Given the description of an element on the screen output the (x, y) to click on. 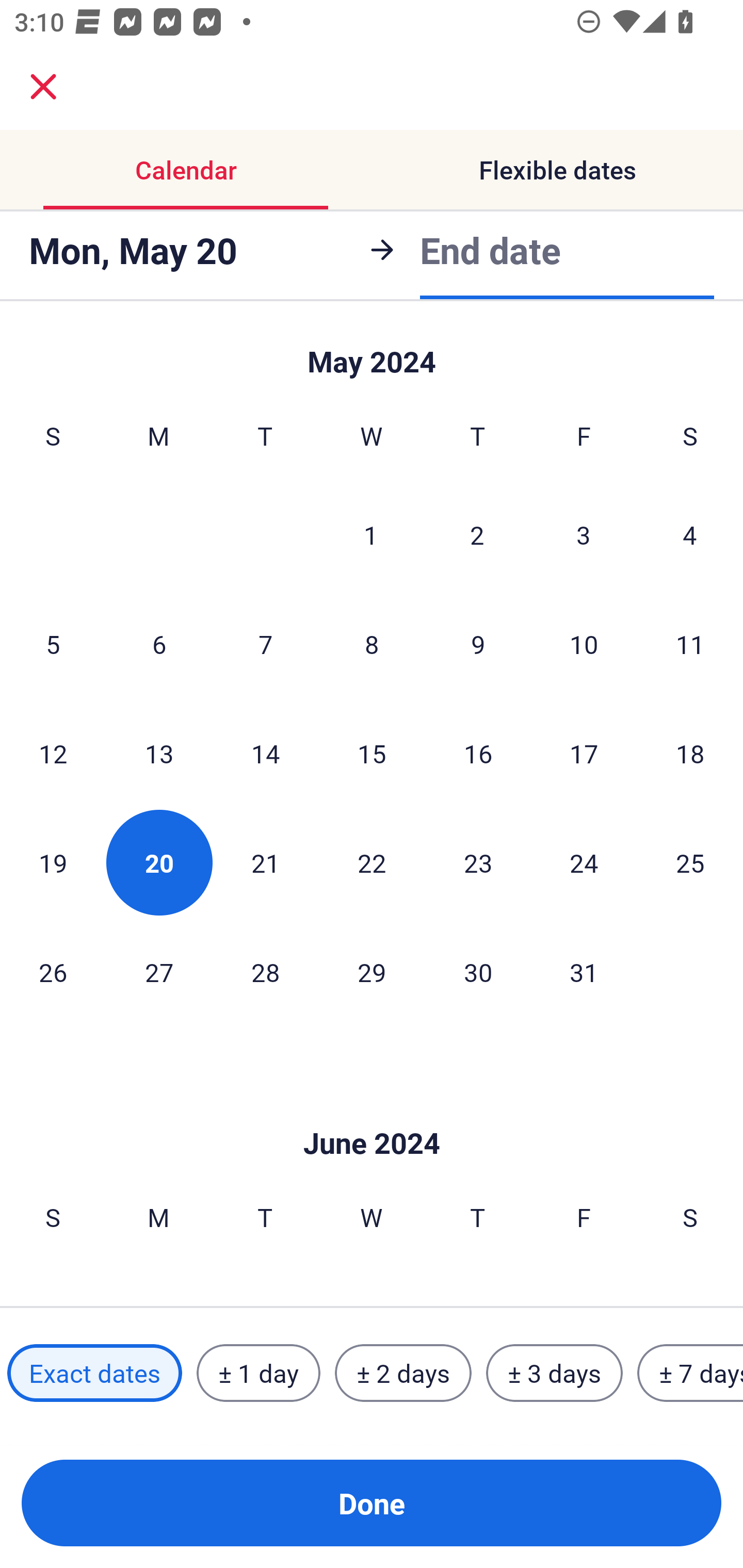
close. (43, 86)
Flexible dates (557, 170)
End date (489, 247)
Skip to Done (371, 352)
1 Wednesday, May 1, 2024 (371, 534)
2 Thursday, May 2, 2024 (477, 534)
3 Friday, May 3, 2024 (583, 534)
4 Saturday, May 4, 2024 (689, 534)
5 Sunday, May 5, 2024 (53, 643)
6 Monday, May 6, 2024 (159, 643)
7 Tuesday, May 7, 2024 (265, 643)
8 Wednesday, May 8, 2024 (371, 643)
9 Thursday, May 9, 2024 (477, 643)
10 Friday, May 10, 2024 (584, 643)
11 Saturday, May 11, 2024 (690, 643)
12 Sunday, May 12, 2024 (53, 752)
13 Monday, May 13, 2024 (159, 752)
14 Tuesday, May 14, 2024 (265, 752)
15 Wednesday, May 15, 2024 (371, 752)
16 Thursday, May 16, 2024 (477, 752)
17 Friday, May 17, 2024 (584, 752)
18 Saturday, May 18, 2024 (690, 752)
19 Sunday, May 19, 2024 (53, 862)
21 Tuesday, May 21, 2024 (265, 862)
22 Wednesday, May 22, 2024 (371, 862)
23 Thursday, May 23, 2024 (477, 862)
24 Friday, May 24, 2024 (584, 862)
25 Saturday, May 25, 2024 (690, 862)
26 Sunday, May 26, 2024 (53, 971)
27 Monday, May 27, 2024 (159, 971)
28 Tuesday, May 28, 2024 (265, 971)
29 Wednesday, May 29, 2024 (371, 971)
30 Thursday, May 30, 2024 (477, 971)
31 Friday, May 31, 2024 (584, 971)
Skip to Done (371, 1112)
Exact dates (94, 1372)
± 1 day (258, 1372)
± 2 days (403, 1372)
± 3 days (553, 1372)
± 7 days (690, 1372)
Done (371, 1502)
